Given the description of an element on the screen output the (x, y) to click on. 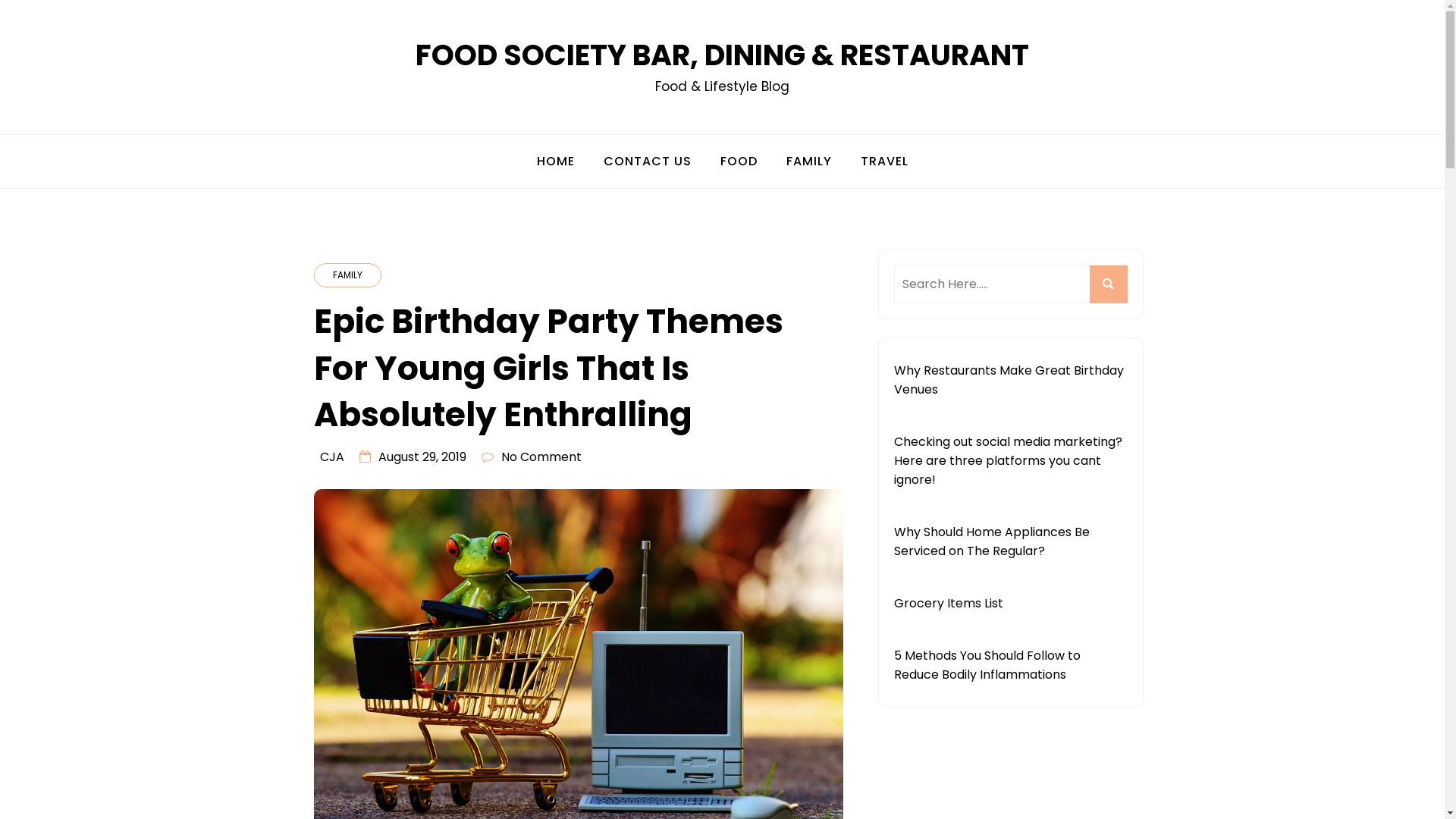
FOOD Element type: text (737, 161)
Why Restaurants Make Great Birthday Venues Element type: text (1008, 379)
TRAVEL Element type: text (884, 161)
CJA Element type: text (332, 456)
FAMILY Element type: text (347, 275)
Grocery Items List Element type: text (947, 602)
HOME Element type: text (554, 161)
Skip to content Element type: text (0, 0)
August 29, 2019 Element type: text (421, 456)
CONTACT US Element type: text (646, 161)
No Comment Element type: text (540, 456)
Why Should Home Appliances Be Serviced on The Regular? Element type: text (990, 541)
FAMILY Element type: text (808, 161)
FOOD SOCIETY BAR, DINING & RESTAURANT Element type: text (722, 54)
5 Methods You Should Follow to Reduce Bodily Inflammations Element type: text (986, 664)
